Given the description of an element on the screen output the (x, y) to click on. 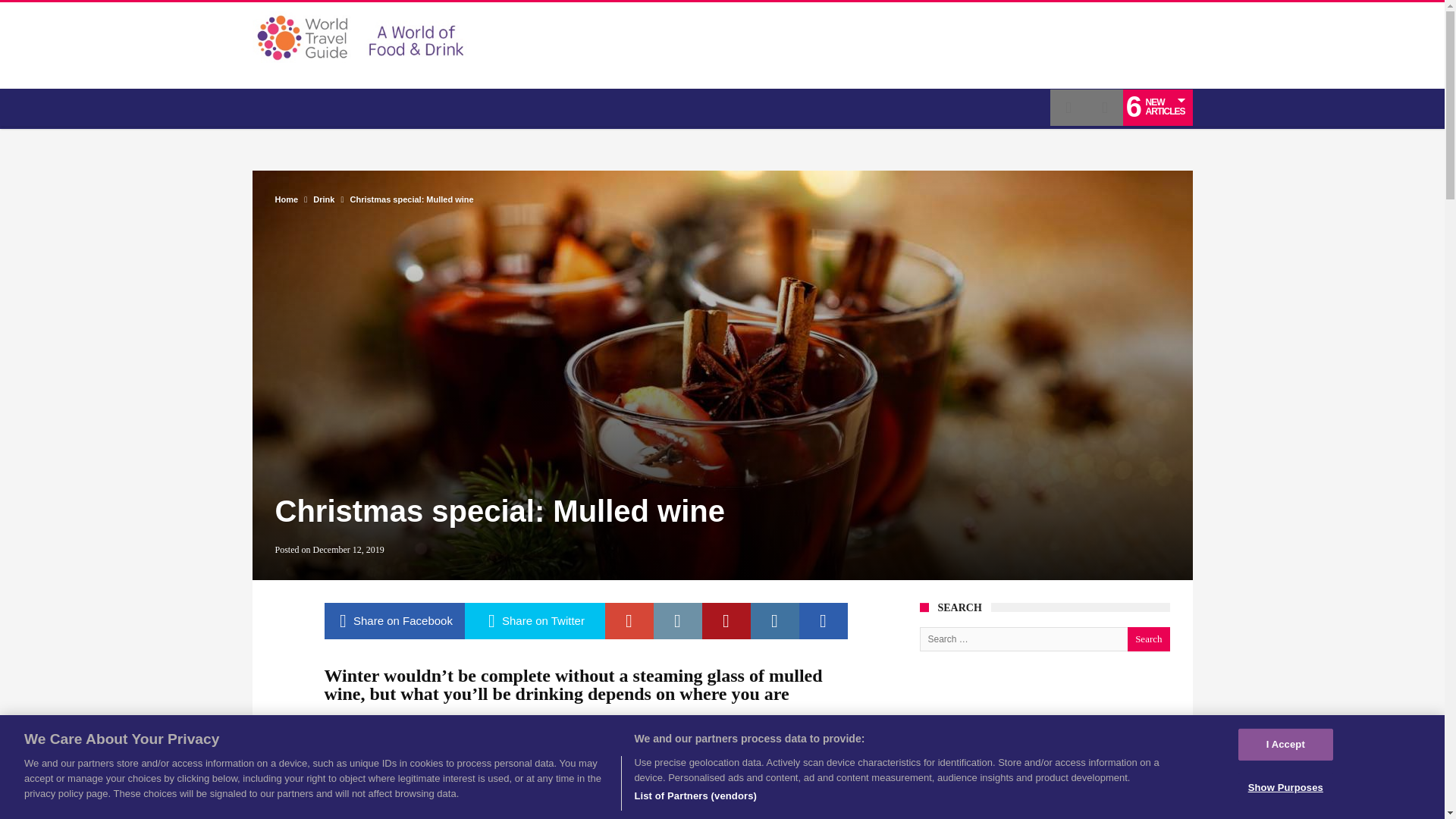
Share on Linkedin (775, 620)
Drink (323, 198)
reddit (677, 620)
Share on Reddit (677, 620)
facebook (394, 620)
Share on Tumblr (823, 620)
tumblr (823, 620)
pinterest (726, 620)
Share on Twitter (534, 620)
Home (286, 198)
linkedin (775, 620)
twitter (534, 620)
Search (1147, 639)
Share on Pinterest (726, 620)
google (629, 620)
